Given the description of an element on the screen output the (x, y) to click on. 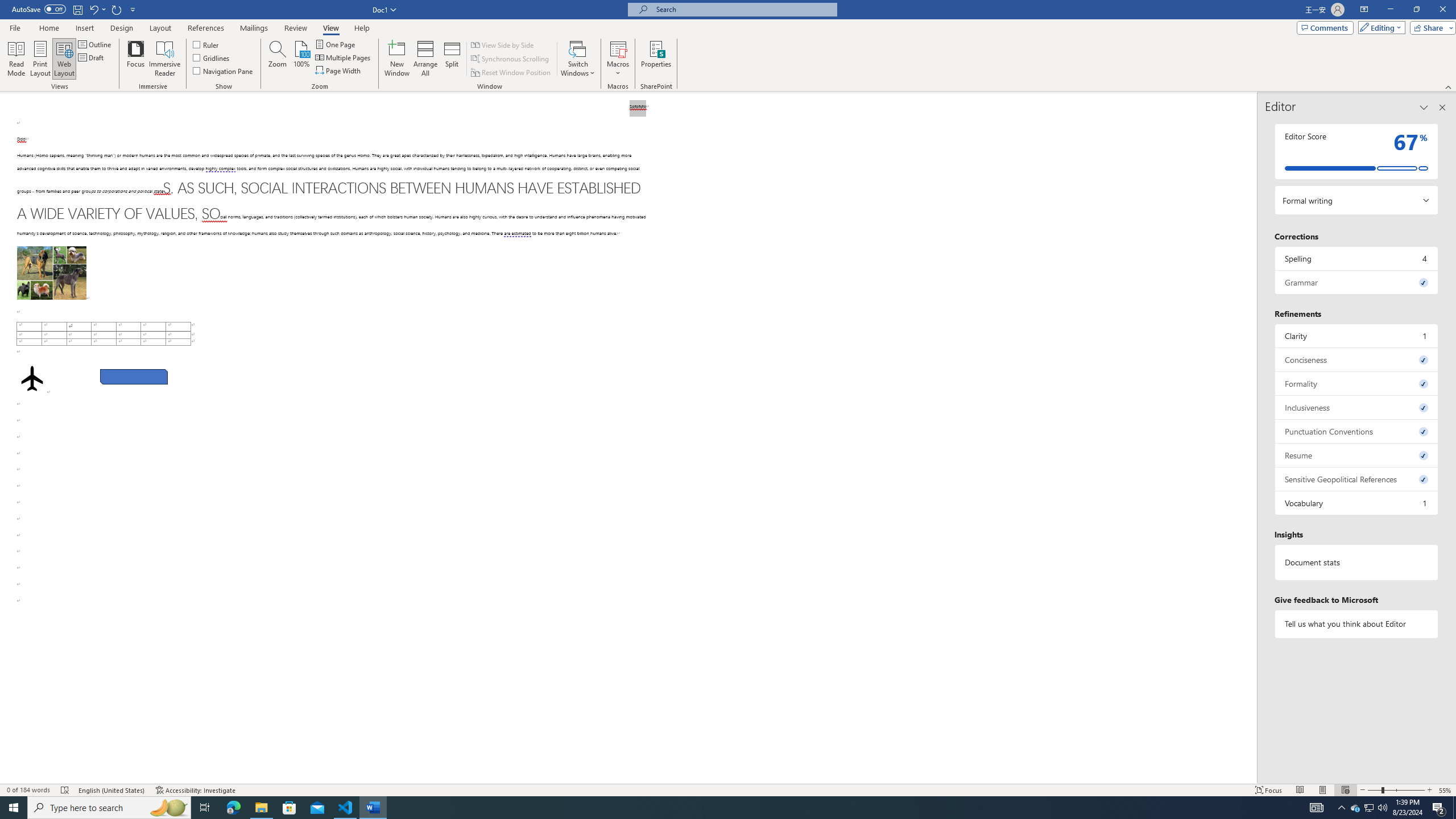
Formality, 0 issues. Press space or enter to review items. (1356, 383)
View Side by Side (502, 44)
Outline (95, 44)
Spelling, 4 issues. Press space or enter to review items. (1356, 258)
Split (451, 58)
Word Count 0 of 184 words (28, 790)
View Macros (617, 48)
